Given the description of an element on the screen output the (x, y) to click on. 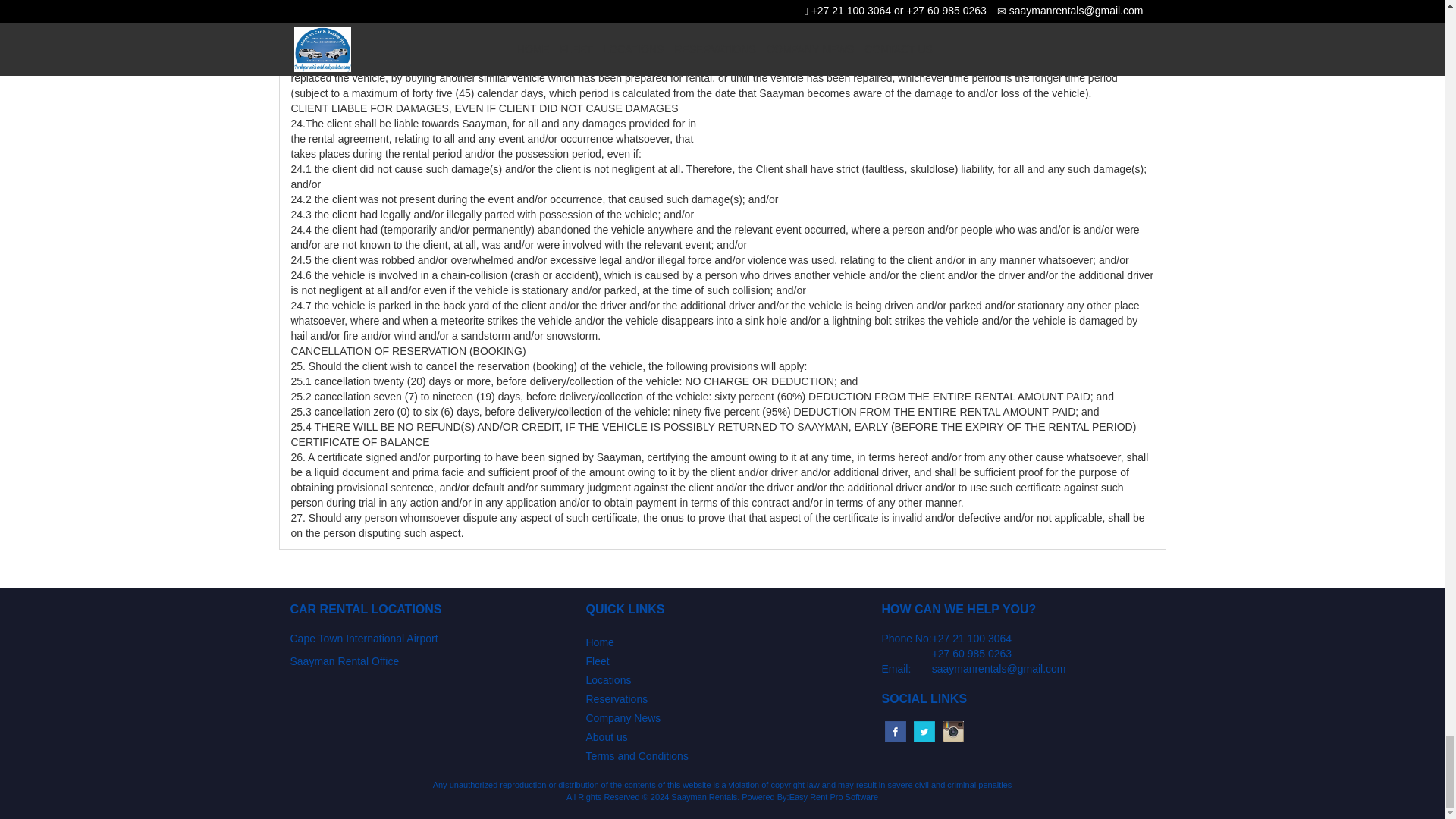
Cape Town International Airport (363, 638)
Terms and Conditions (722, 754)
Saayman Rental Office (343, 661)
About us (722, 735)
Locations (722, 678)
Fleet (722, 659)
Home (722, 640)
Reservations (722, 697)
Company News (722, 716)
Easy Rent Pro Software (833, 796)
